Given the description of an element on the screen output the (x, y) to click on. 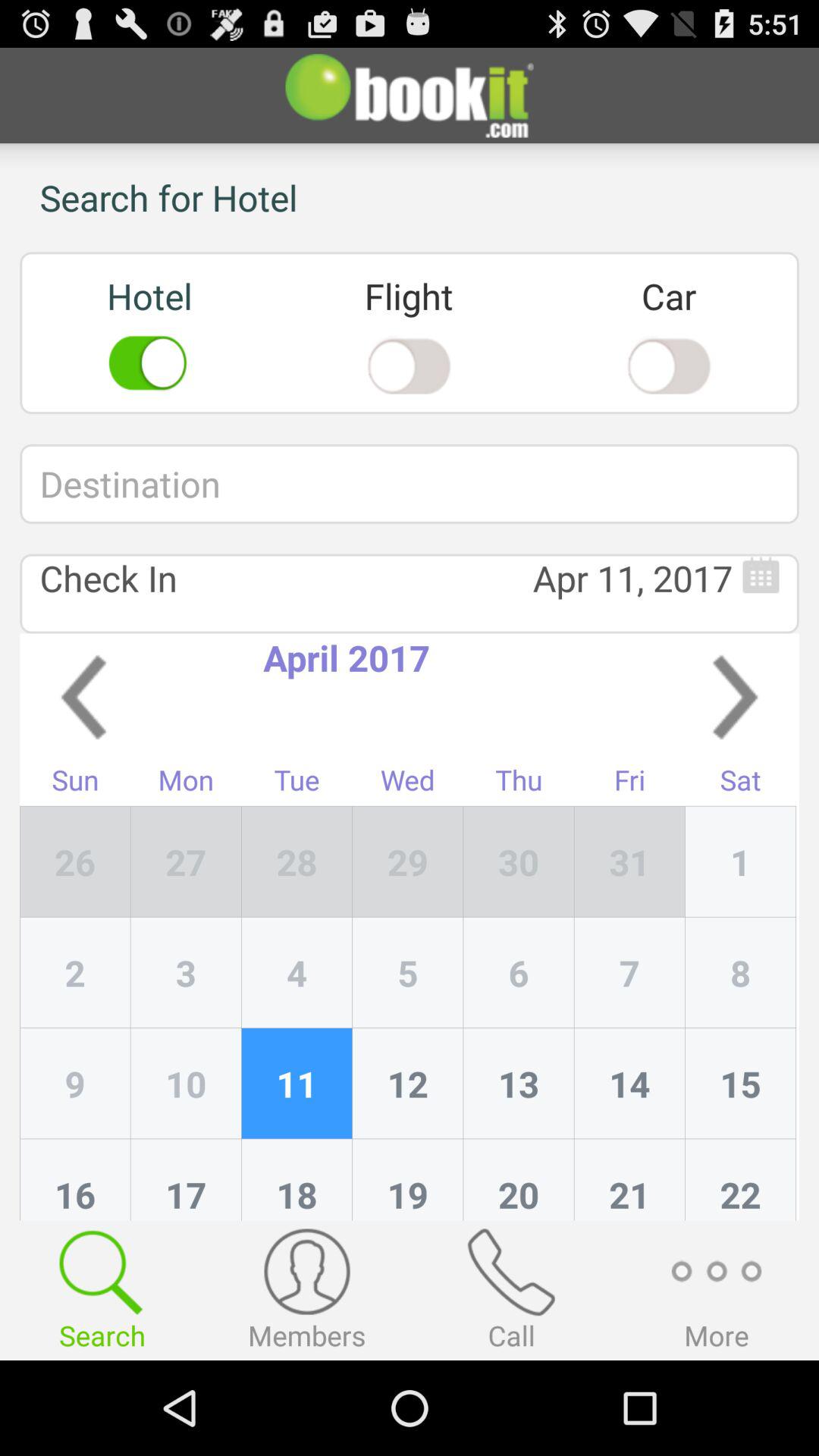
press item next to the mon icon (296, 861)
